Given the description of an element on the screen output the (x, y) to click on. 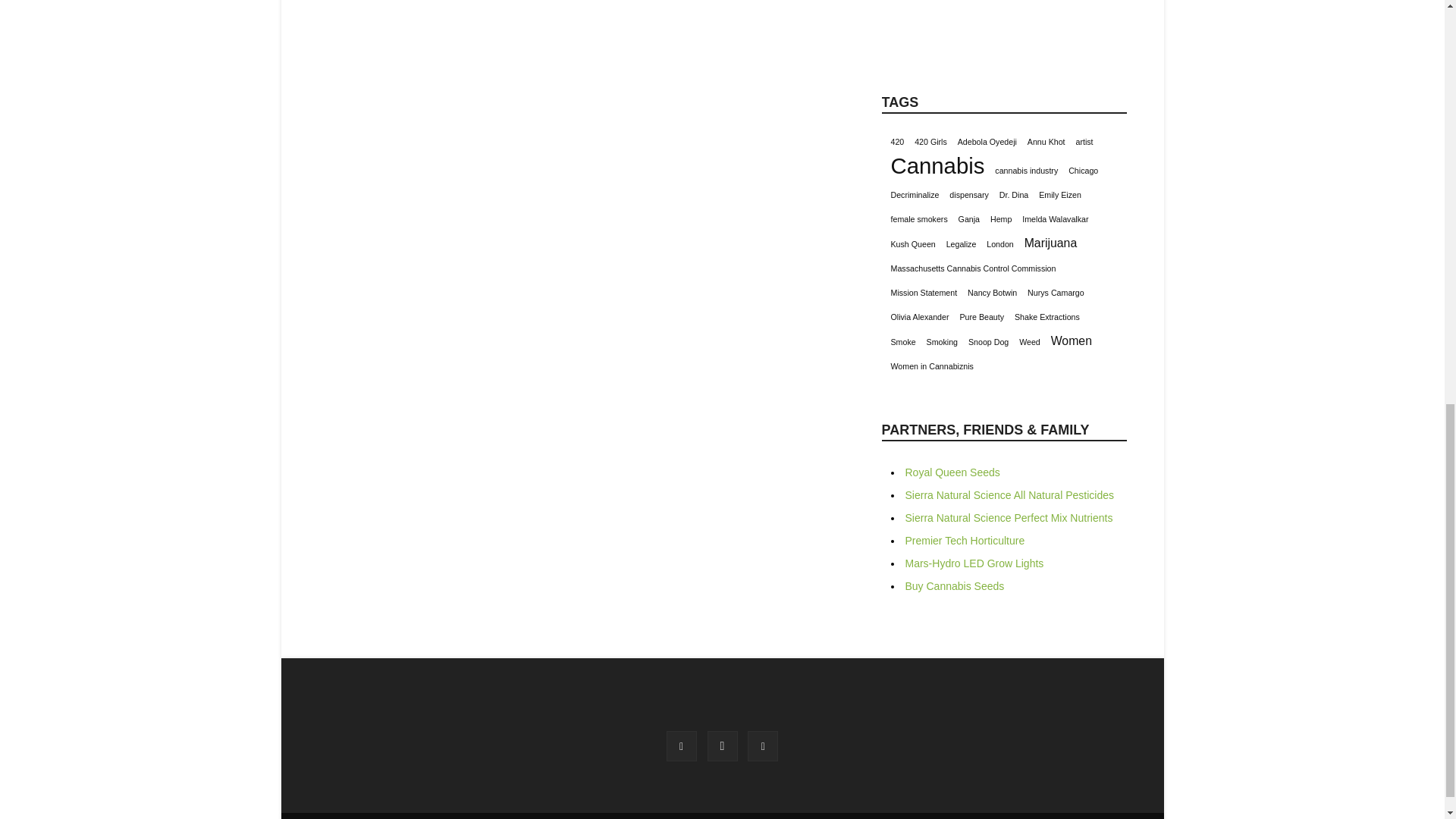
Facebook (681, 746)
Adebola Oyedeji (987, 141)
Twitter (762, 746)
420 Girls (930, 141)
Instagram (721, 746)
